Given the description of an element on the screen output the (x, y) to click on. 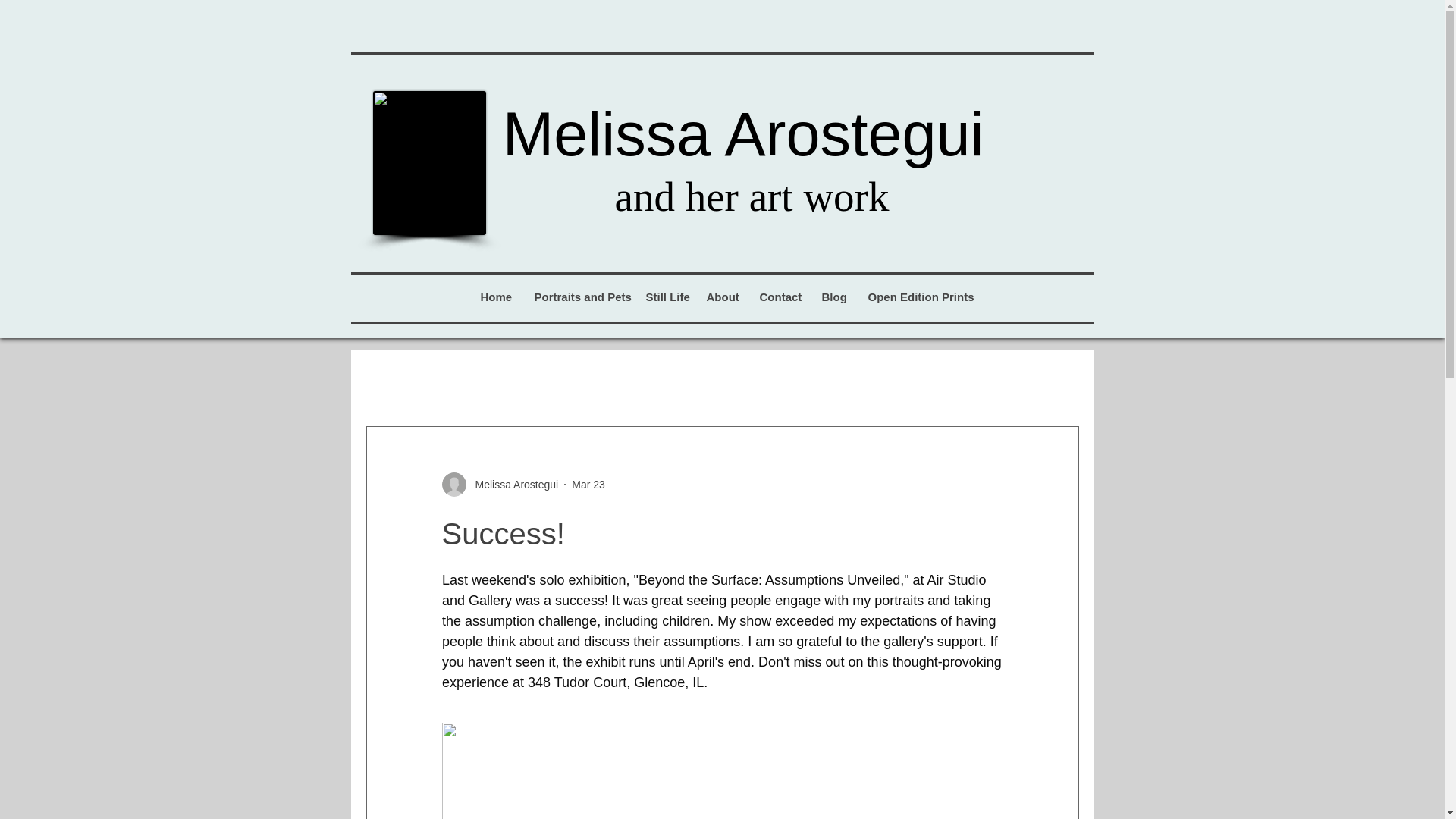
New Work (463, 380)
All Posts (387, 380)
Portraits and Pets (577, 296)
Blog (832, 296)
Melissa Arostegui (499, 484)
Open Edition Prints (915, 296)
Contact (778, 296)
About (721, 296)
Still Life (663, 296)
Melissa Arostegui (511, 483)
